Given the description of an element on the screen output the (x, y) to click on. 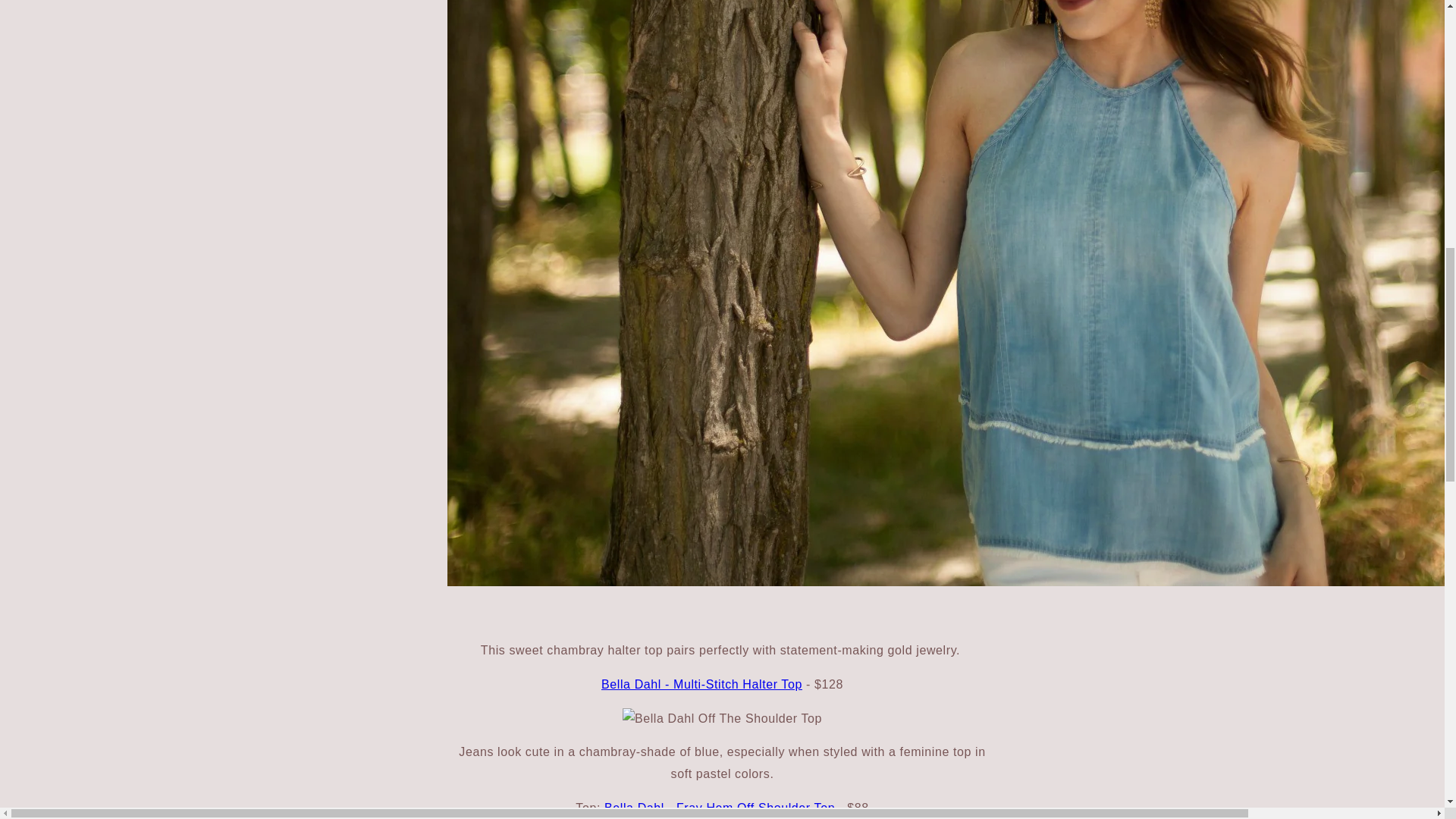
Bella Dahl - Fray Hem Off Shoulder Top (719, 807)
Bella Dahl - Multi-Stitch Halter Top (701, 684)
